Given the description of an element on the screen output the (x, y) to click on. 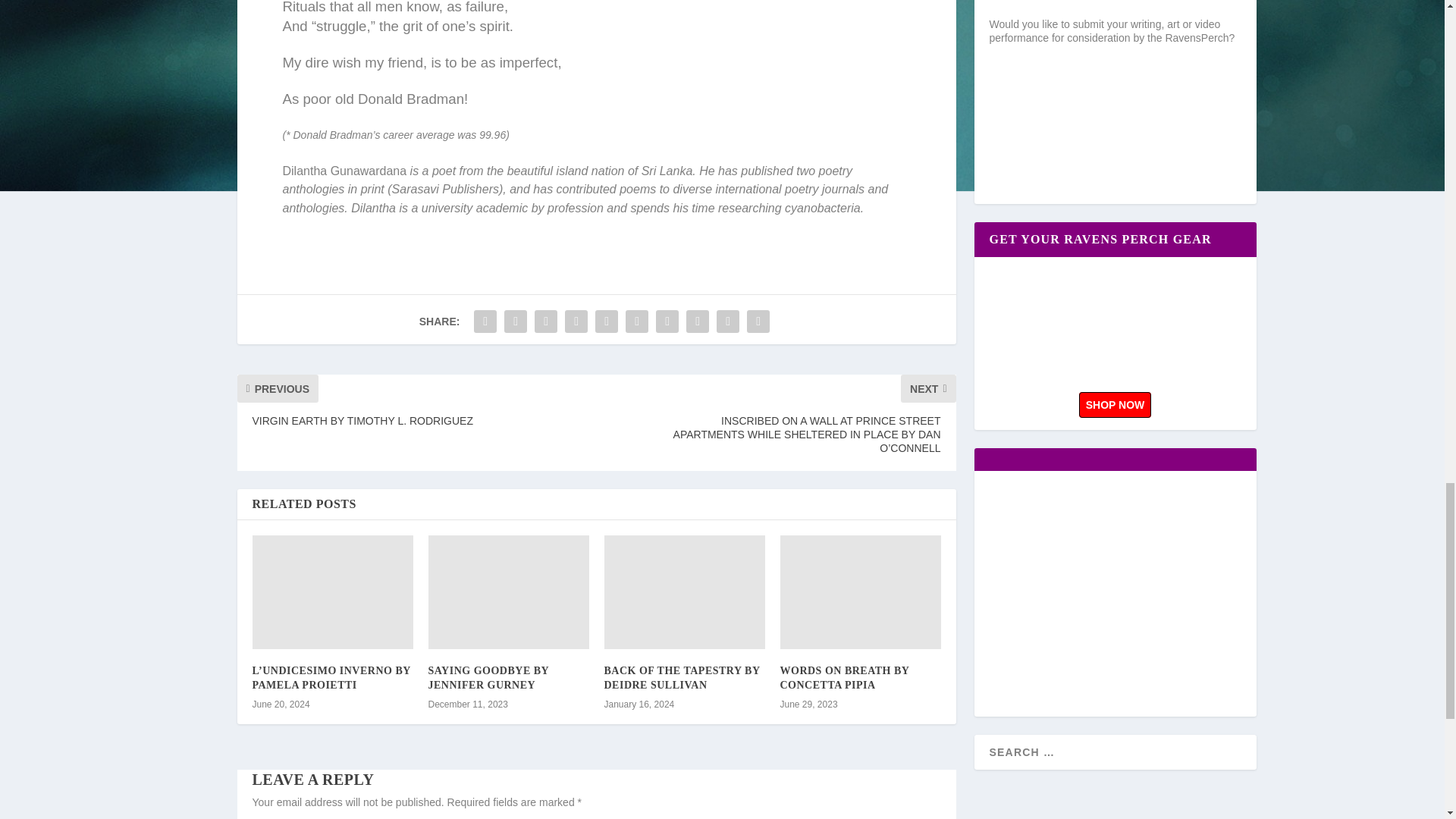
WORDS ON BREATH BY CONCETTA PIPIA (843, 677)
SAYING GOODBYE BY JENNIFER GURNEY (488, 677)
BACK OF THE TAPESTRY BY DEIDRE SULLIVAN (682, 677)
